Given the description of an element on the screen output the (x, y) to click on. 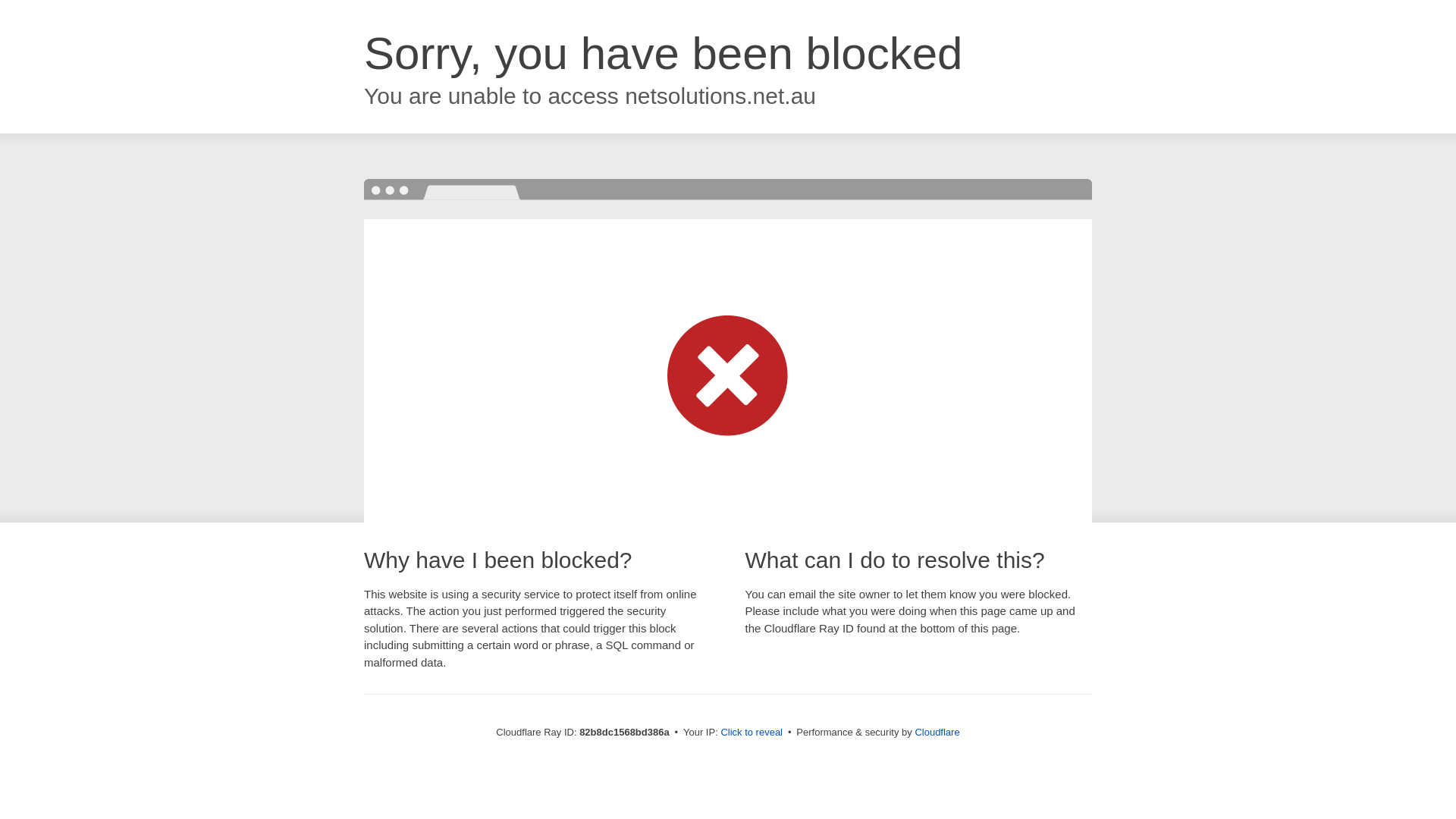
Cloudflare Element type: text (936, 731)
Click to reveal Element type: text (751, 732)
